Given the description of an element on the screen output the (x, y) to click on. 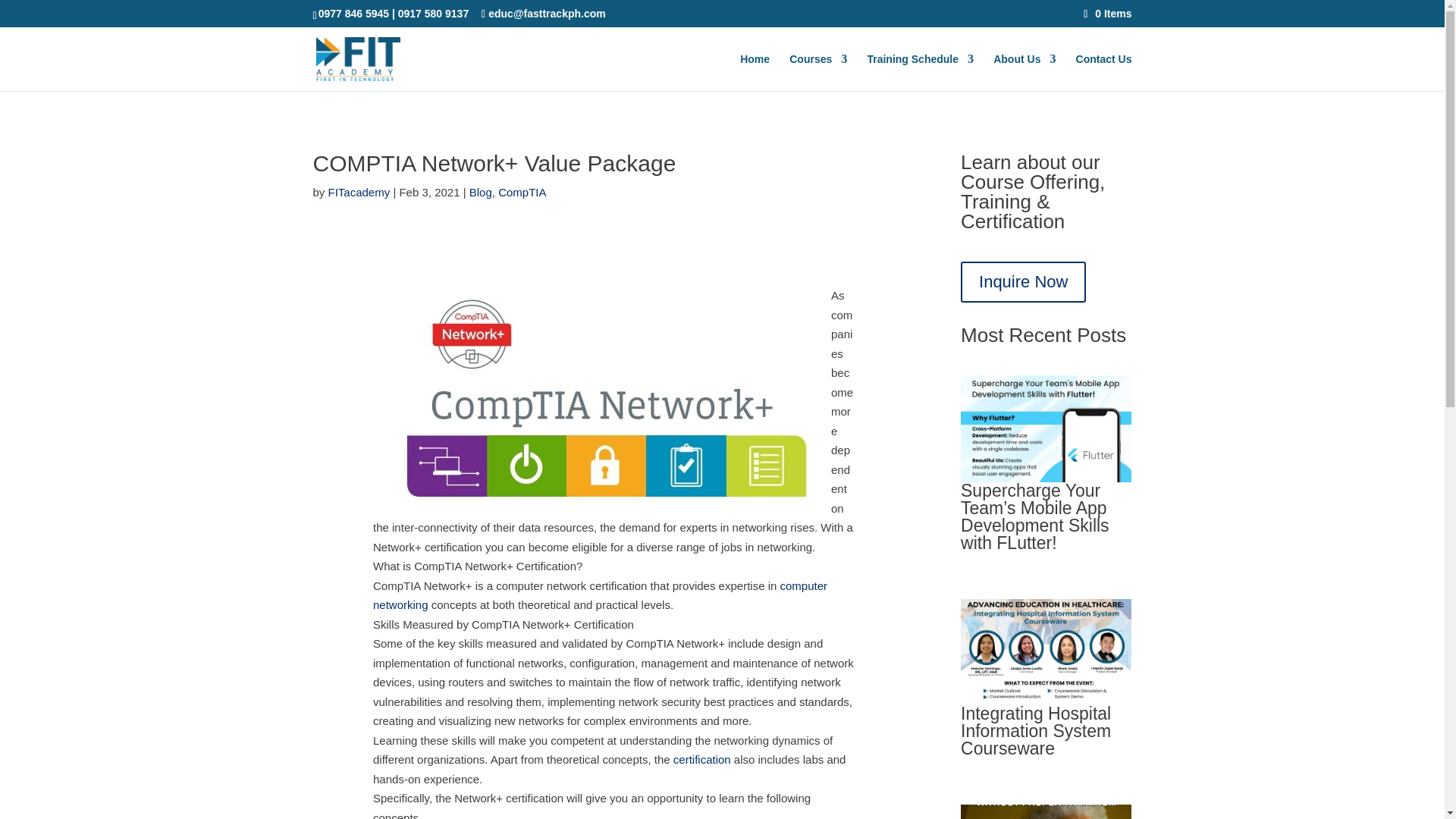
About Us (1023, 72)
certification (701, 758)
0977 846 5945 (353, 13)
Training Schedule (920, 72)
computer networking (599, 595)
Blog (480, 192)
Contact Us (1103, 72)
Courses (818, 72)
FITacademy (359, 192)
Inquire Now (1023, 282)
0917 580 9137 (432, 13)
CompTIA (521, 192)
0 Items (1107, 13)
Posts by FITacademy (359, 192)
